Given the description of an element on the screen output the (x, y) to click on. 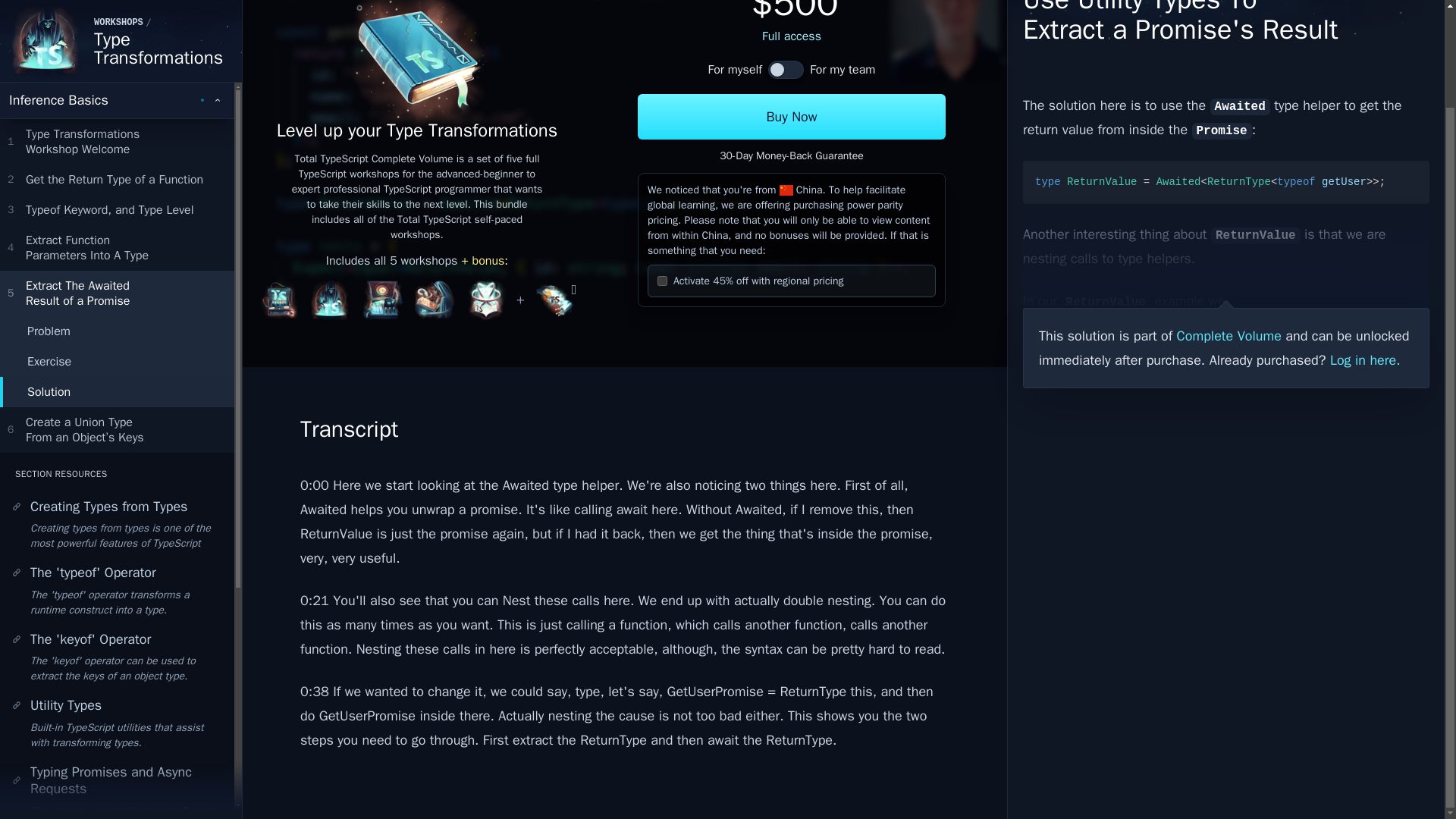
Solution (117, 278)
The 'keyof' Operator (117, 527)
Problem (117, 180)
Utility Types (117, 218)
Inference Basics (117, 593)
Creating Types from Types (117, 66)
Unions and Indexing (117, 3)
Template Literals (117, 96)
The 'typeof' Operator (117, 393)
Typing Promises and Async Requests (117, 135)
Exercise (117, 764)
